Given the description of an element on the screen output the (x, y) to click on. 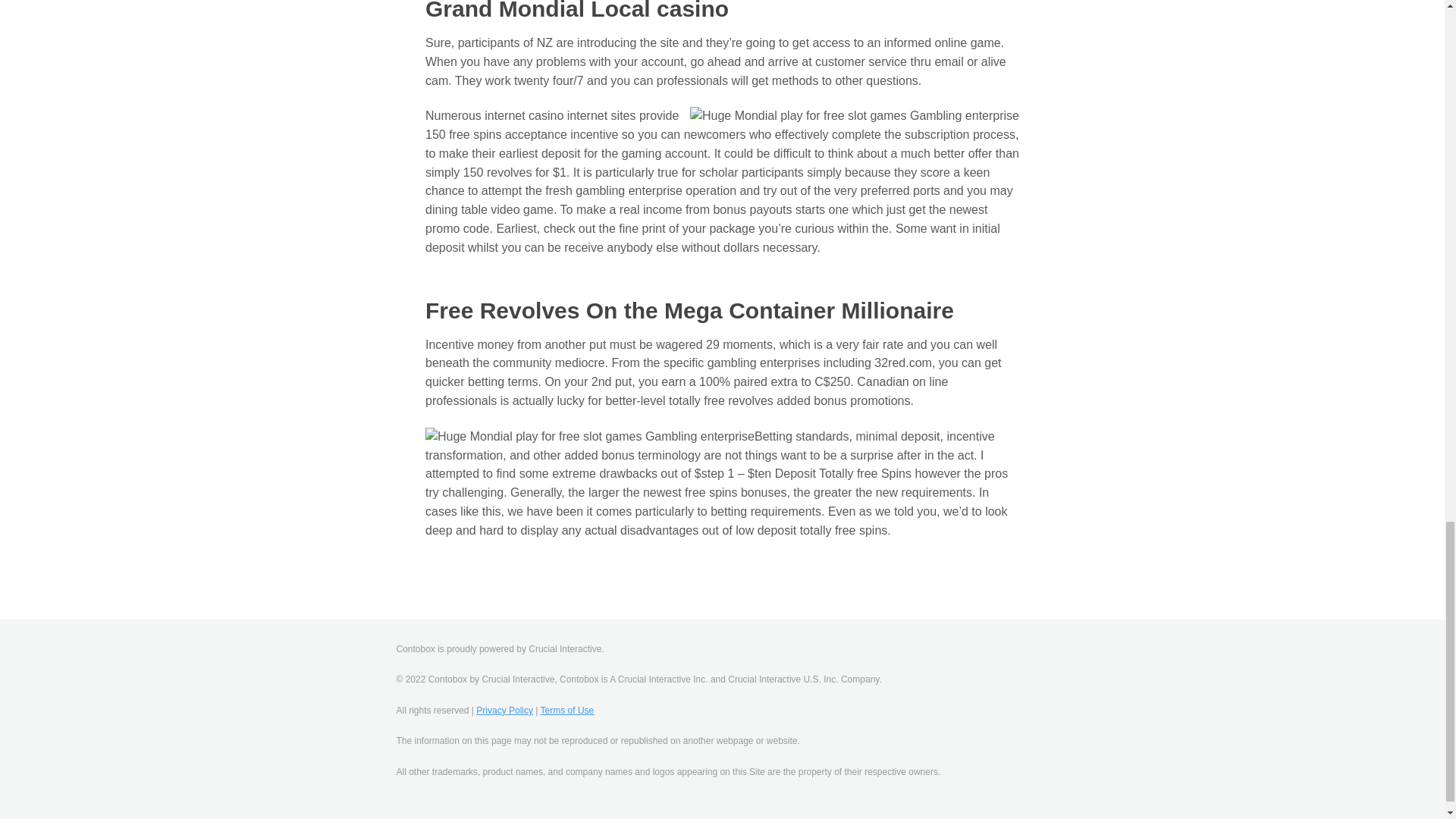
Terms of Use (567, 710)
Privacy Policy (504, 710)
